Given the description of an element on the screen output the (x, y) to click on. 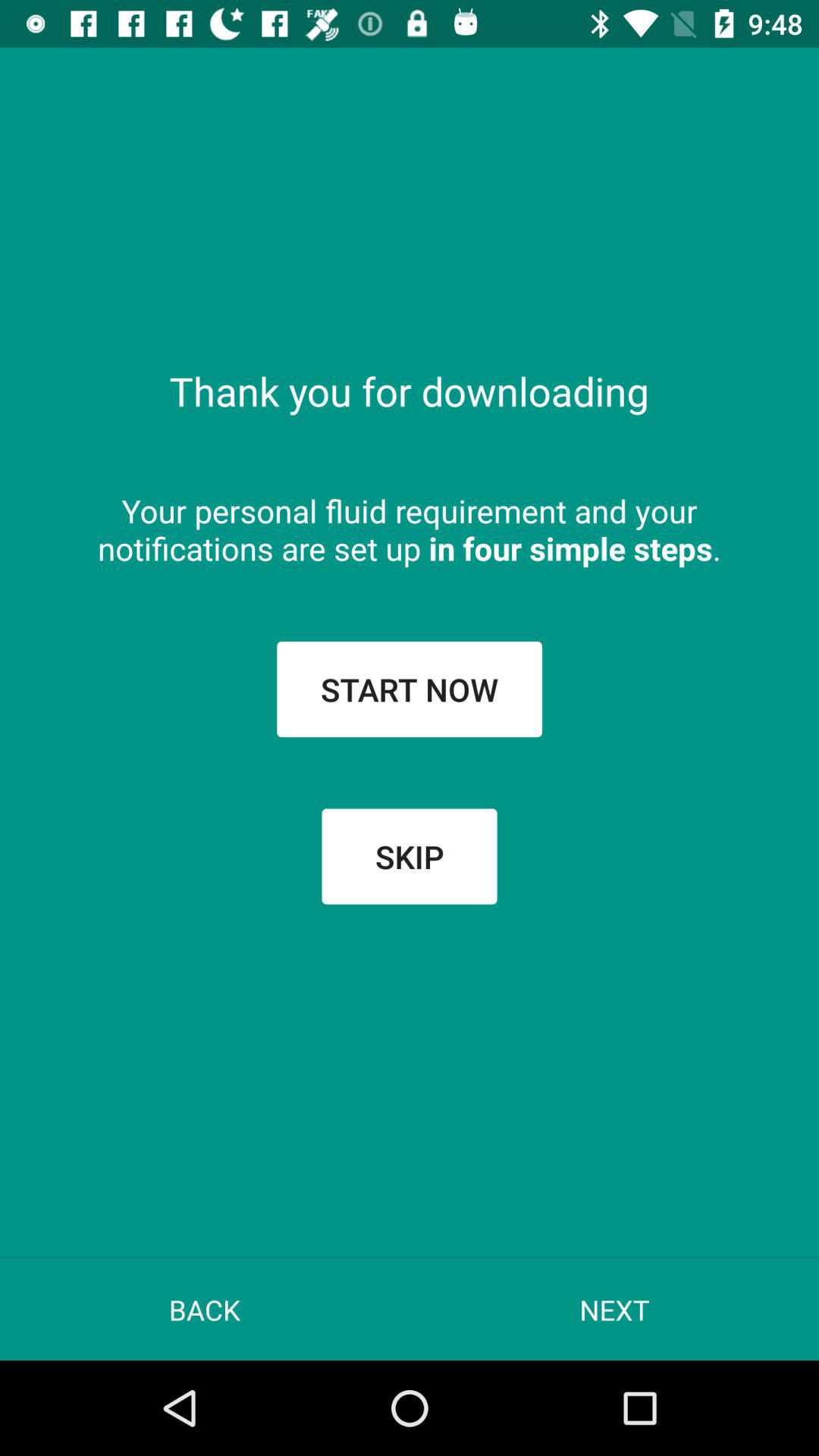
tap the icon below start now icon (409, 856)
